Given the description of an element on the screen output the (x, y) to click on. 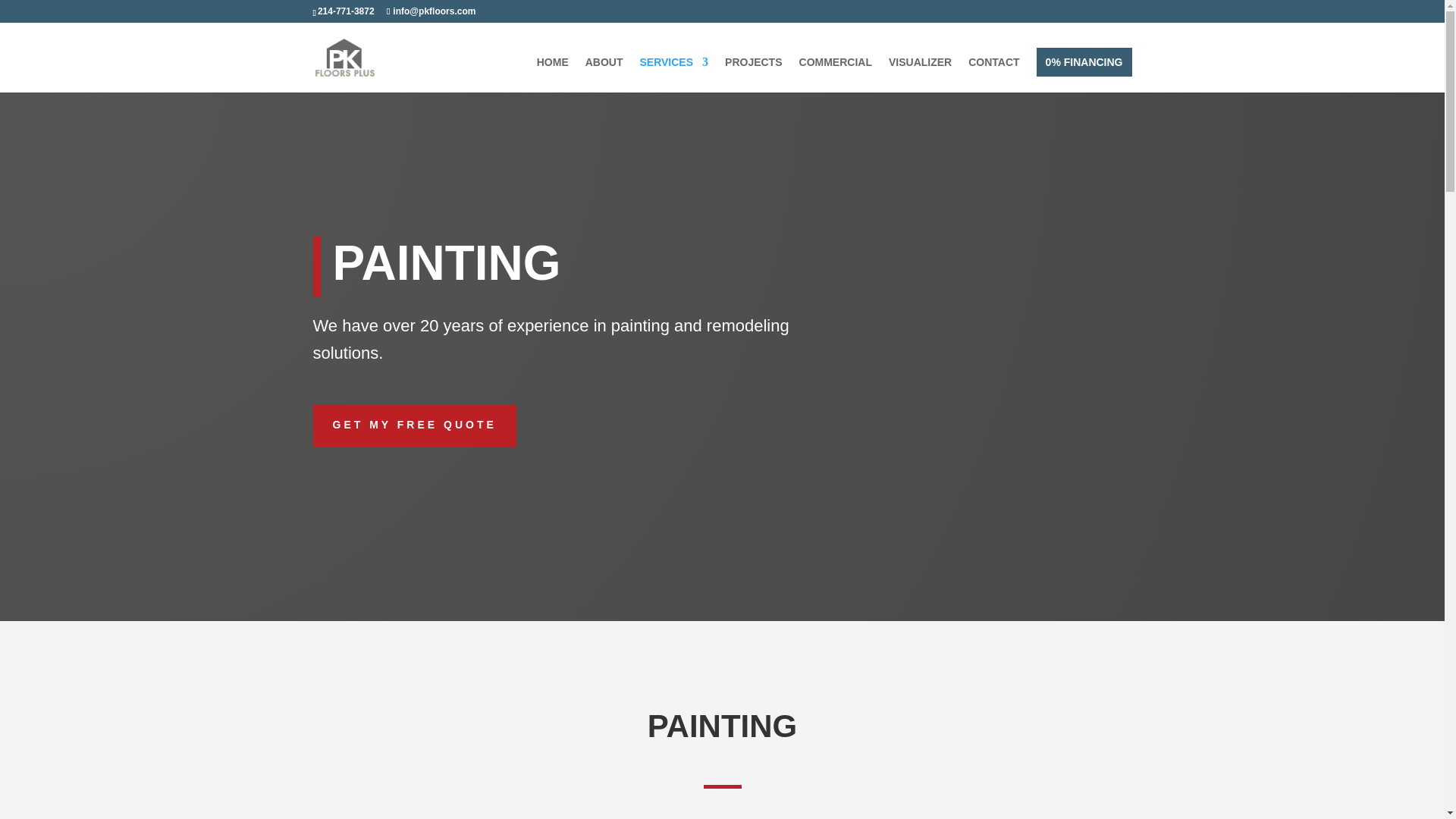
HOME (553, 74)
ABOUT (604, 74)
SERVICES (674, 74)
